Given the description of an element on the screen output the (x, y) to click on. 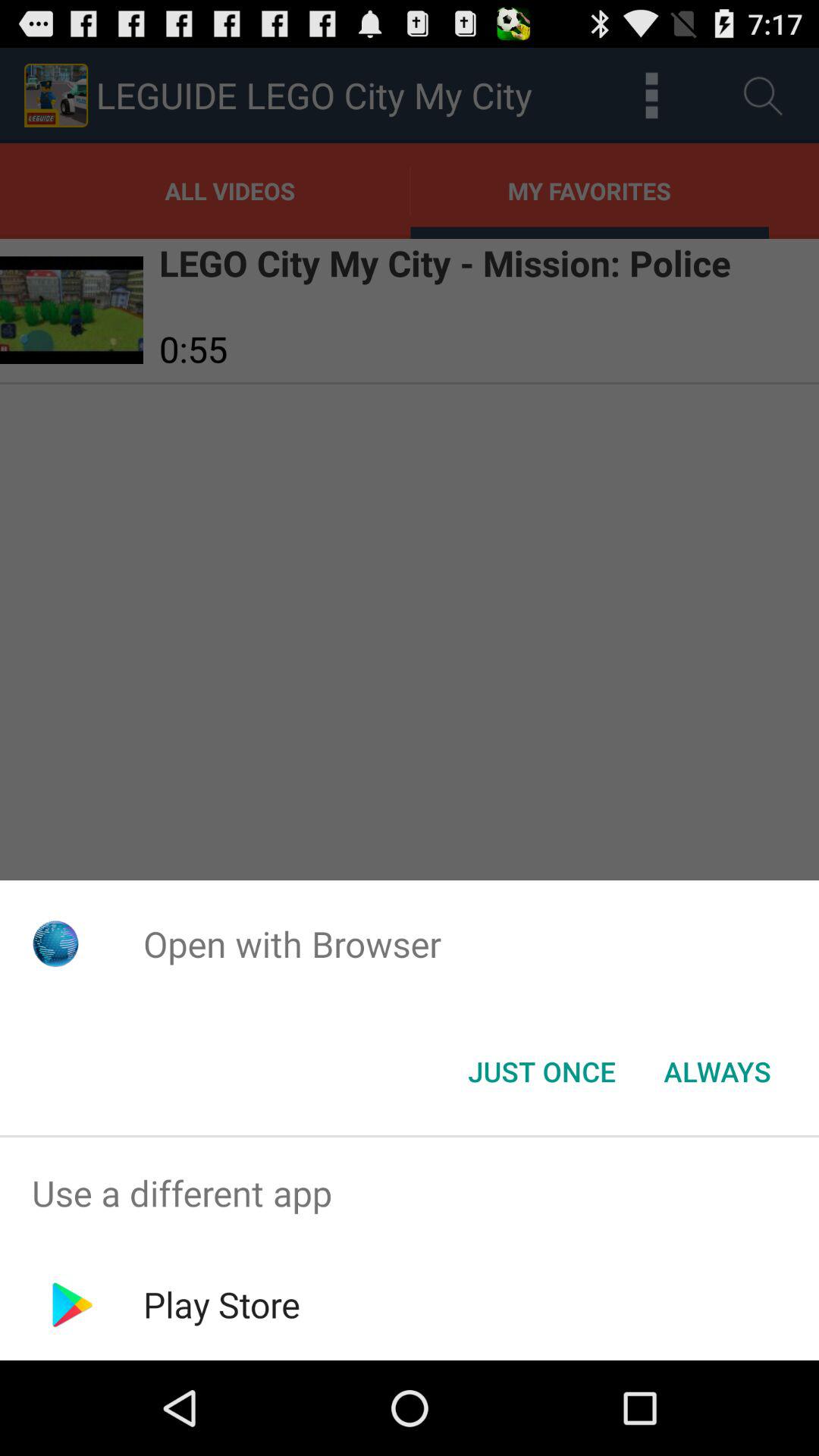
click the icon to the left of always (541, 1071)
